Given the description of an element on the screen output the (x, y) to click on. 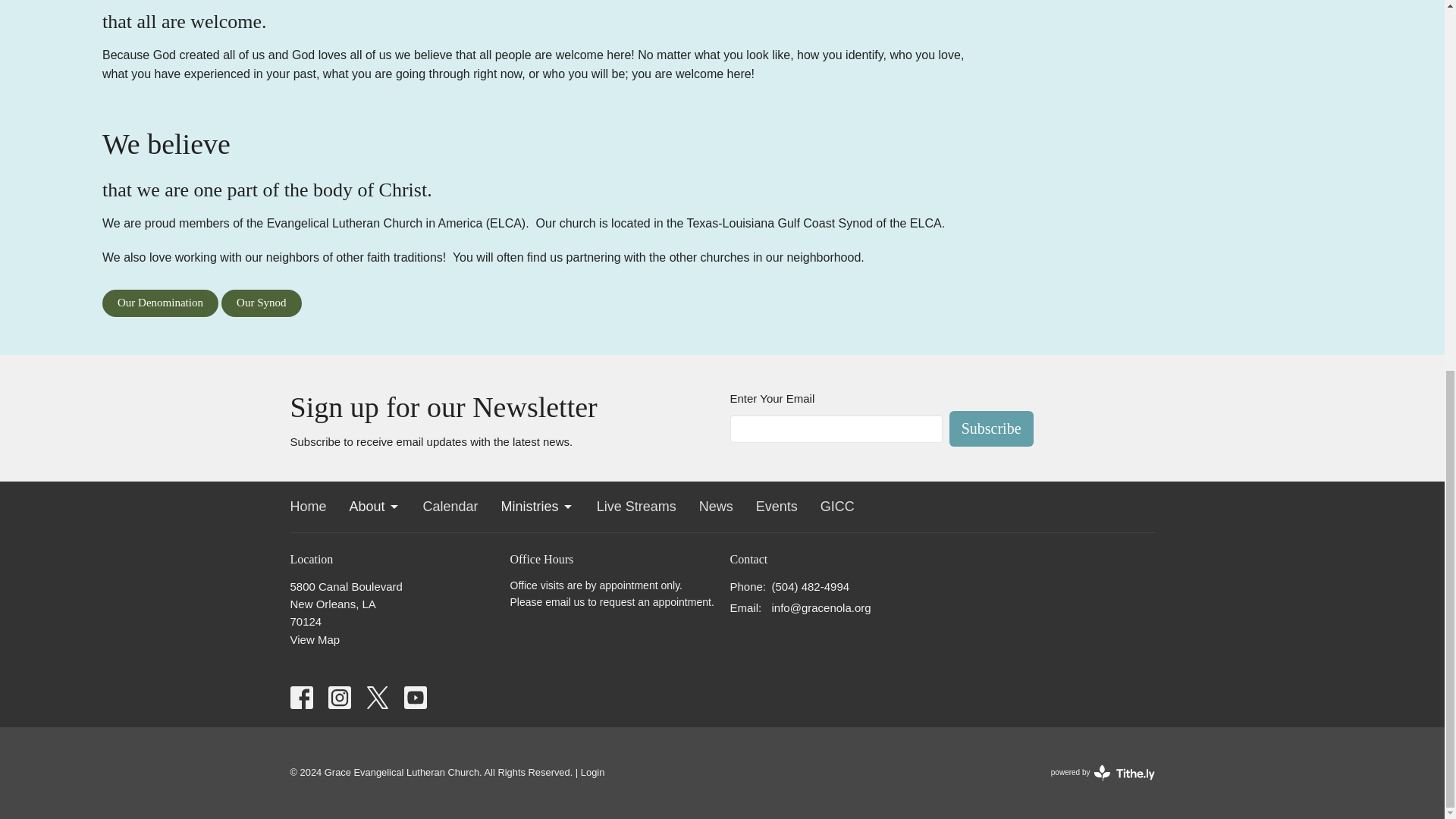
translation missing: en.ui.email (743, 607)
Our Denomination (159, 302)
Our Synod (261, 302)
Subscribe (991, 428)
